Given the description of an element on the screen output the (x, y) to click on. 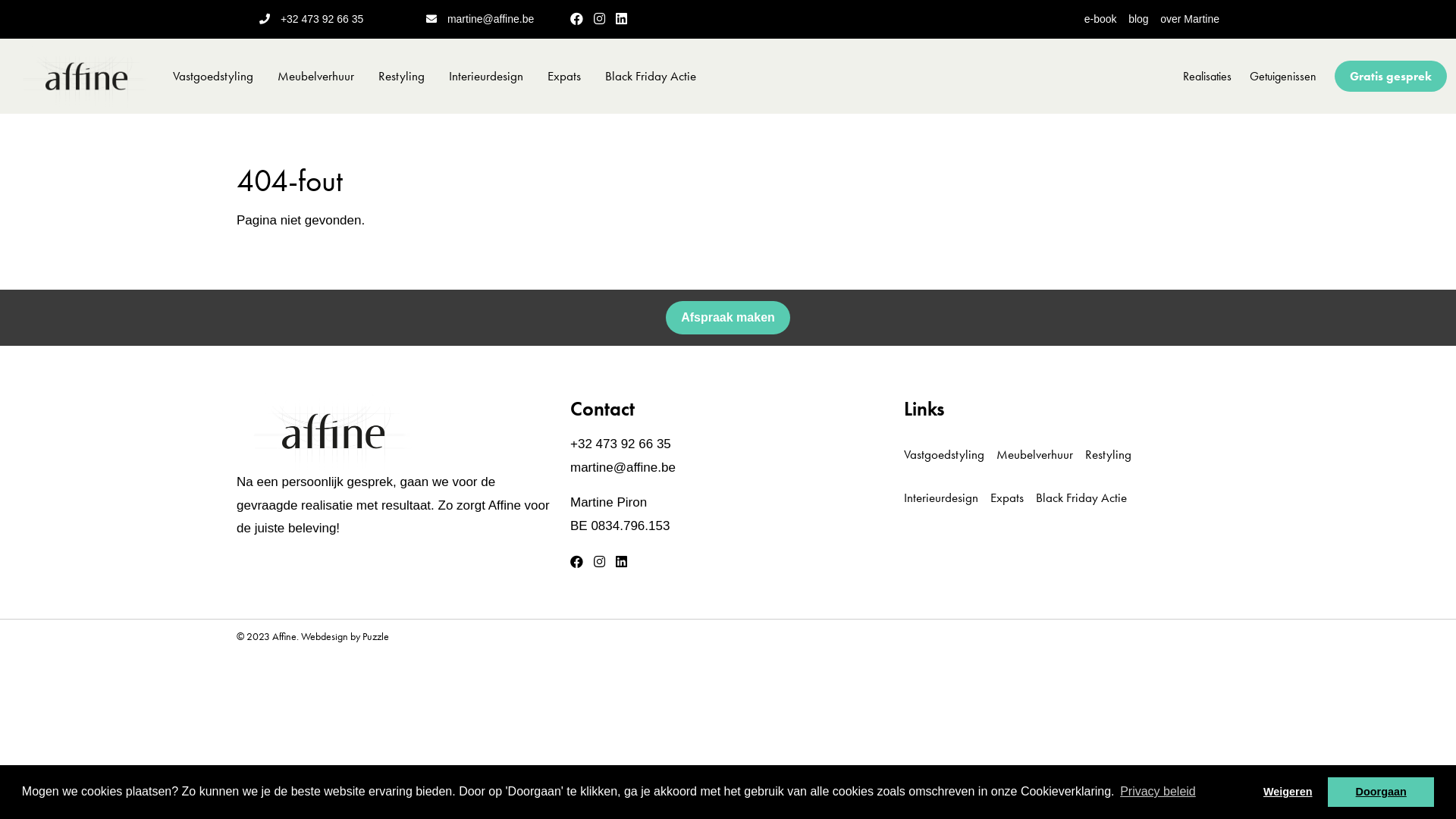
Gratis gesprek Element type: text (1390, 75)
Privacy beleid Element type: text (1157, 791)
Puzzle Element type: text (375, 636)
Expats Element type: text (1012, 497)
Instagram Element type: hover (599, 561)
over Martine Element type: text (1189, 18)
Vastgoedstyling Element type: text (212, 76)
+32 473 92 66 35 Element type: text (620, 443)
LinkedIn Element type: hover (621, 18)
Restyling Element type: text (1114, 454)
Expats Element type: text (564, 76)
LinkedIn Element type: hover (621, 561)
Weigeren Element type: text (1287, 791)
e-book    Element type: text (1106, 18)
Black Friday Actie Element type: text (650, 76)
Black Friday Actie Element type: text (1087, 497)
Instagram Element type: hover (599, 18)
Restyling Element type: text (401, 76)
Realisaties Element type: text (1207, 76)
Interieurdesign Element type: text (946, 497)
Doorgaan Element type: text (1380, 791)
Facebook Element type: hover (576, 18)
Meubelverhuur Element type: text (315, 76)
Meubelverhuur Element type: text (1040, 454)
  Element type: text (672, 443)
Interieurdesign Element type: text (485, 76)
Facebook Element type: hover (576, 561)
martine@affine.be Element type: text (622, 467)
+32 473 92 66 35 Element type: text (321, 18)
Vastgoedstyling Element type: text (949, 454)
blog    Element type: text (1144, 18)
Afspraak maken Element type: text (727, 317)
martine@affine.be Element type: text (490, 18)
Getuigenissen Element type: text (1282, 76)
